Given the description of an element on the screen output the (x, y) to click on. 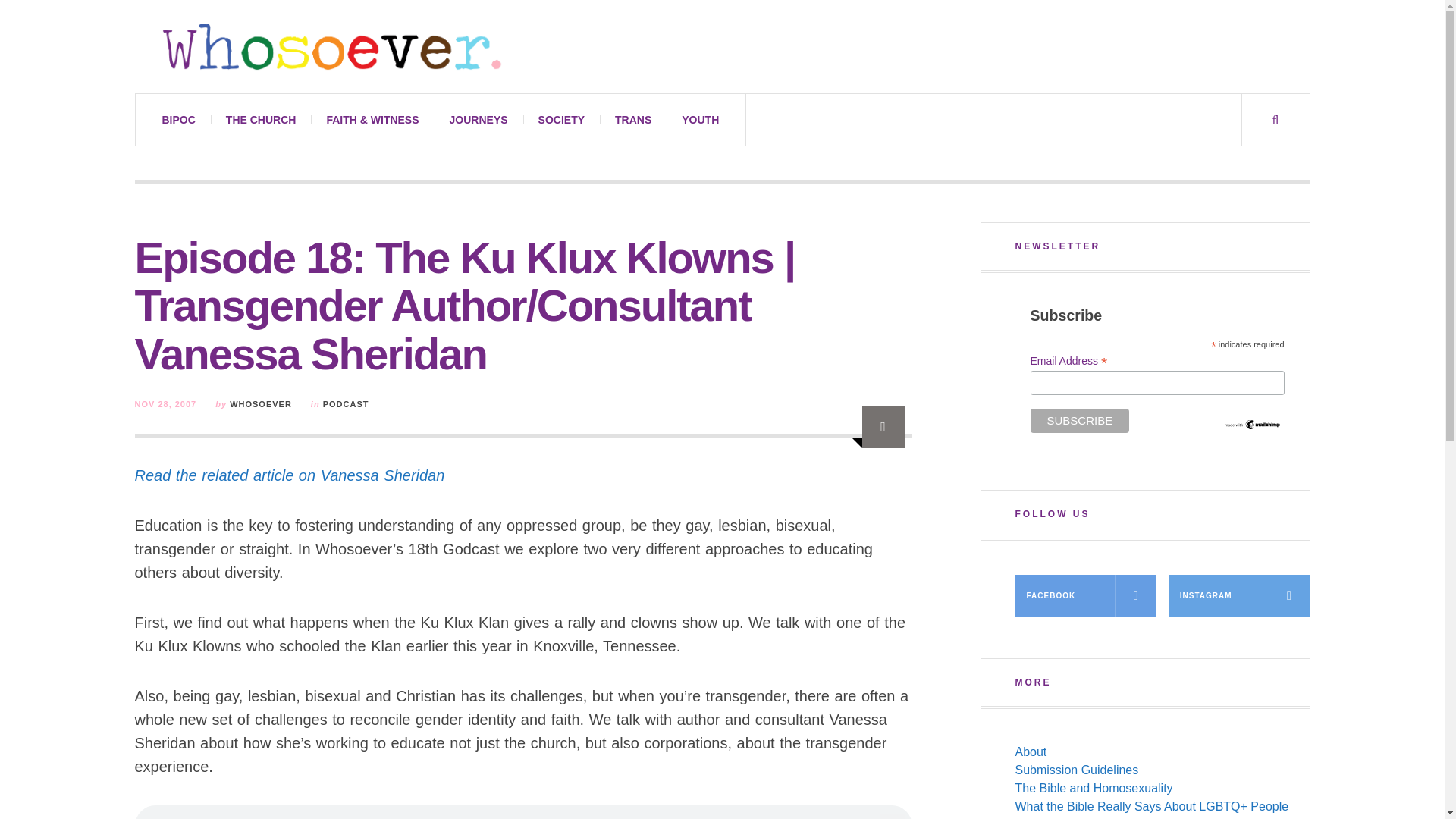
PODCAST (346, 403)
WHOSOEVER (261, 403)
Whosoever (331, 46)
JOURNEYS (477, 119)
About (1030, 751)
View all posts in Podcast (346, 403)
BIPOC (179, 119)
Subscribe (1079, 420)
Posts by Whosoever (261, 403)
Audio Archive (882, 426)
